Given the description of an element on the screen output the (x, y) to click on. 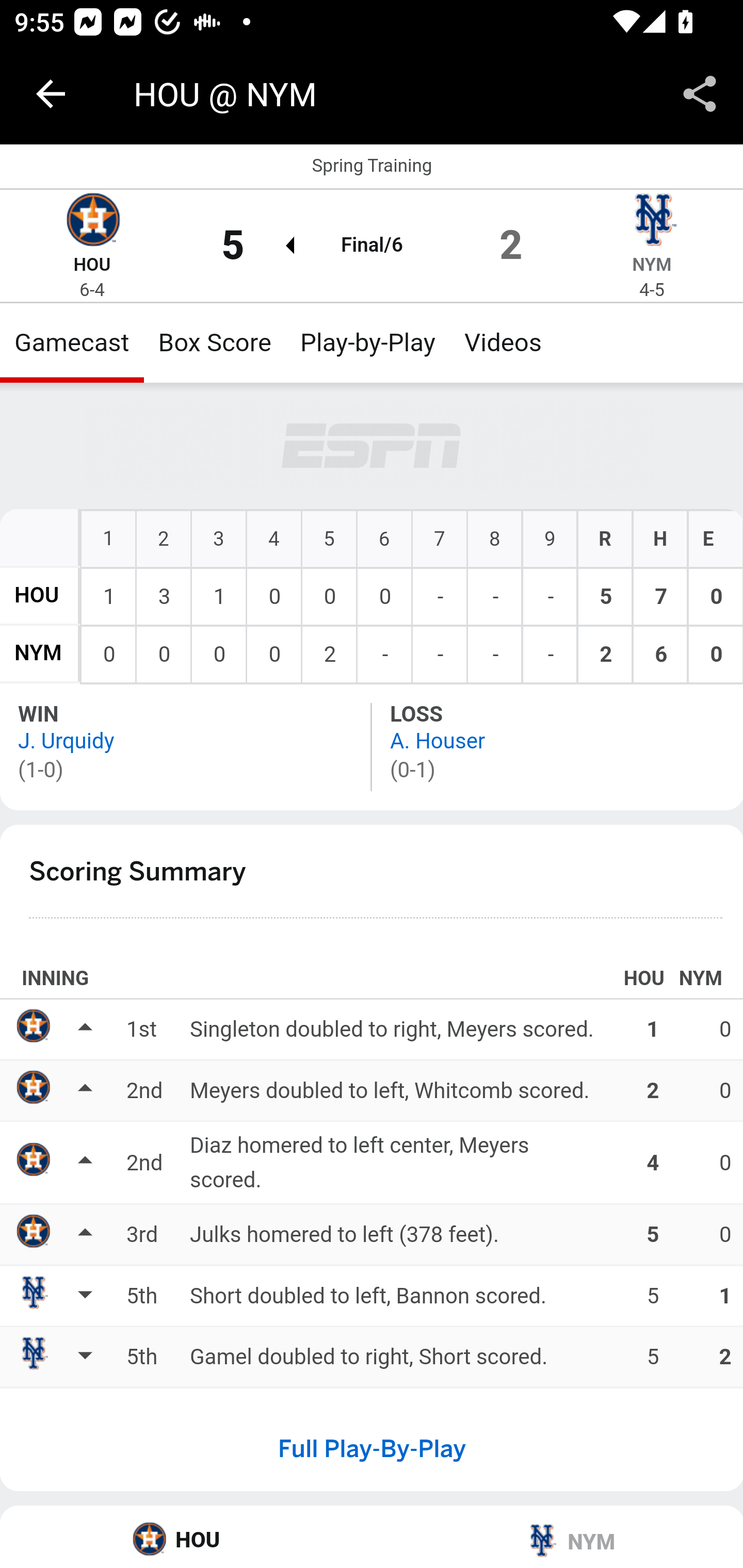
Navigate up (50, 93)
Share (699, 93)
Houston Astros (91, 221)
New York Mets (651, 221)
HOU (92, 264)
NYM (652, 264)
Gamecast (72, 342)
Box Score (214, 342)
Play-by-Play (368, 342)
Videos (502, 342)
Advertisement (372, 446)
HOU (36, 595)
NYM (38, 653)
WIN J. Urquidy (1-0) WIN J. Urquidy (1-0) (186, 746)
LOSS A. Houser (0-1) LOSS A. Houser (0-1) (557, 746)
Full Play-By-Play (371, 1448)
HOU (186, 1536)
NYM (557, 1536)
